Given the description of an element on the screen output the (x, y) to click on. 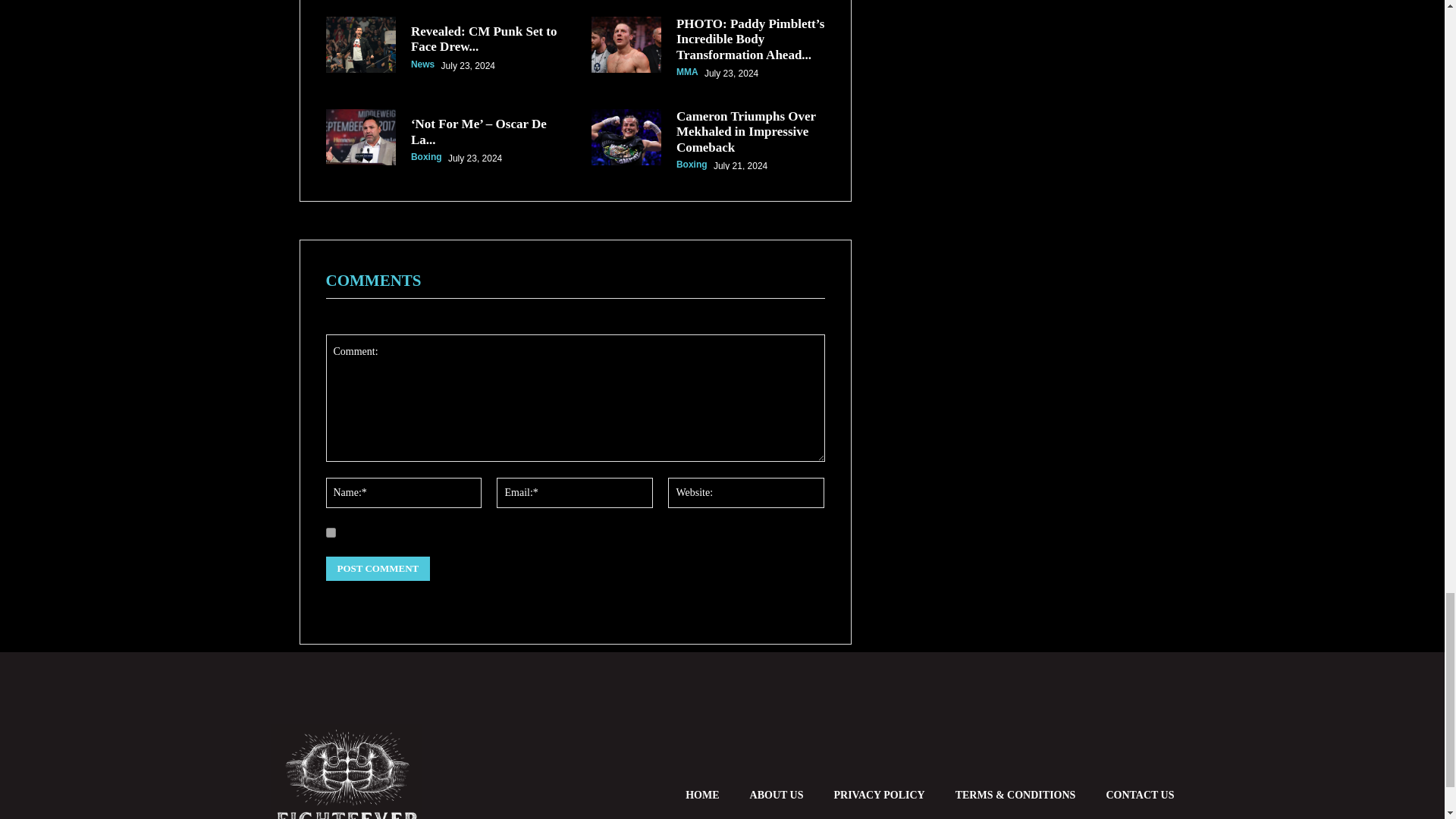
Boxing (426, 156)
Revealed: CM Punk Set to Face Drew... (483, 39)
Boxing (692, 163)
yes (331, 532)
MMA (687, 71)
Post Comment (378, 568)
Cameron Triumphs Over Mekhaled in Impressive Comeback (746, 131)
News (421, 63)
